Given the description of an element on the screen output the (x, y) to click on. 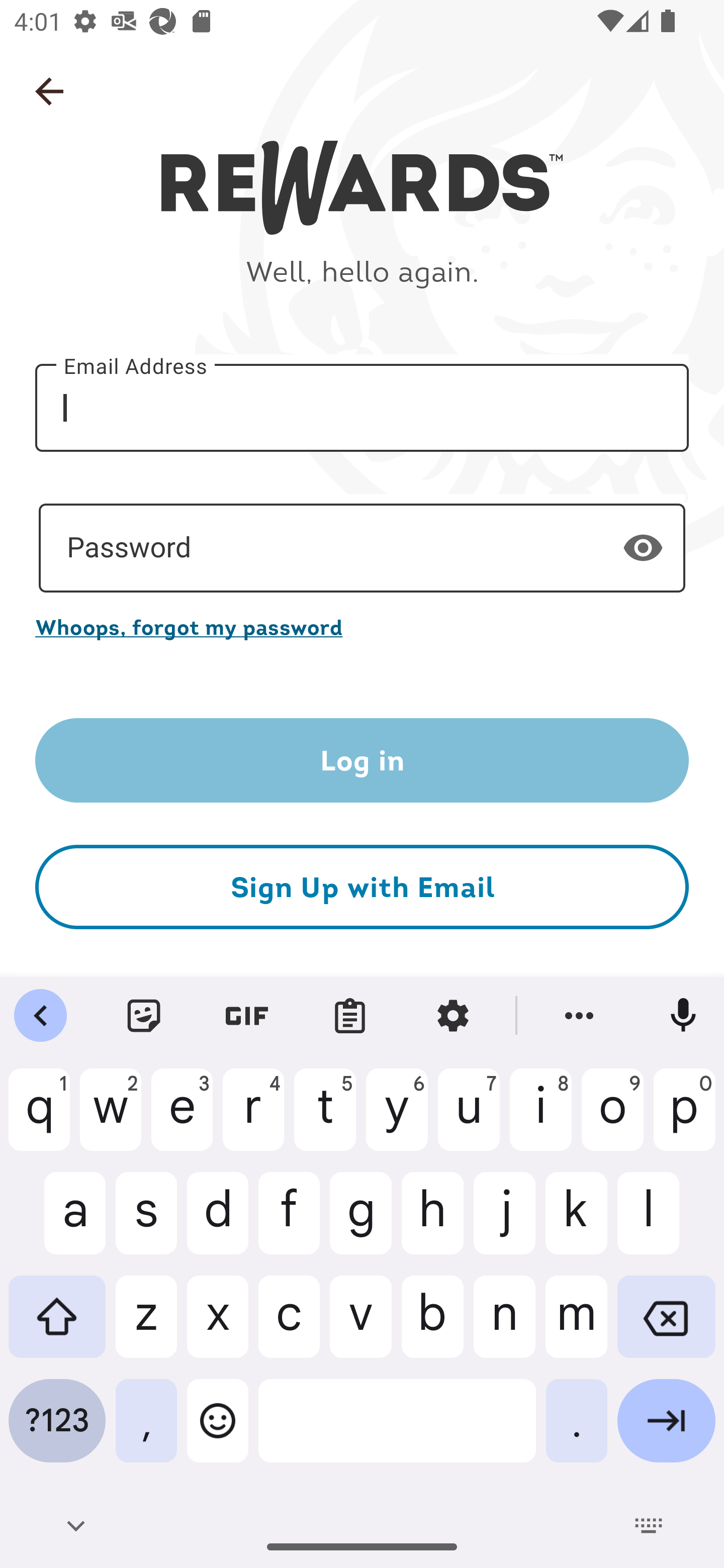
Navigate up (49, 91)
Email Address (361, 407)
Password (361, 547)
Show password (642, 546)
Whoops, forgot my password (361, 627)
Log in (361, 760)
Sign Up with Email (361, 887)
